Given the description of an element on the screen output the (x, y) to click on. 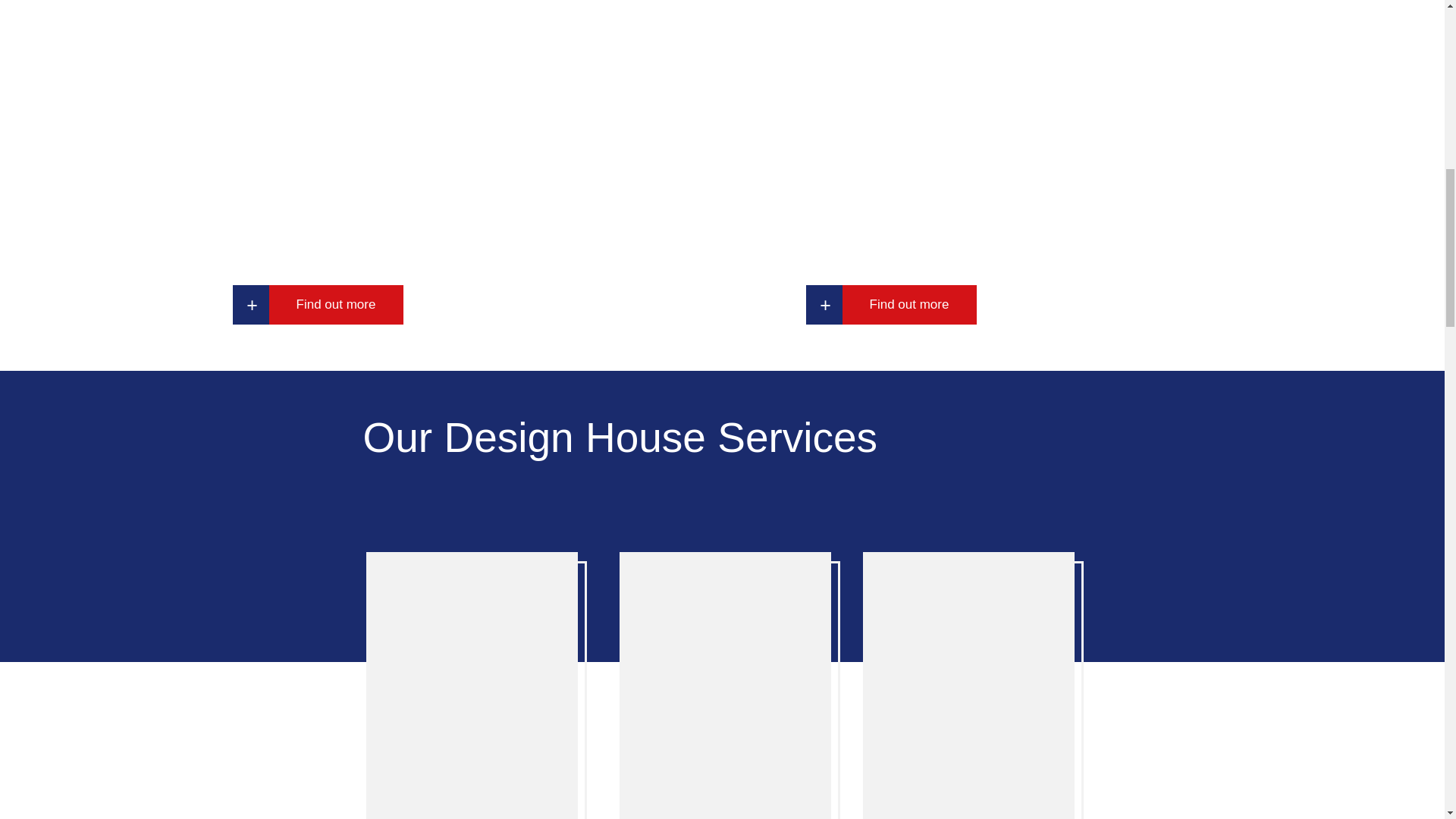
Find out more (335, 304)
Find out more (908, 304)
